Given the description of an element on the screen output the (x, y) to click on. 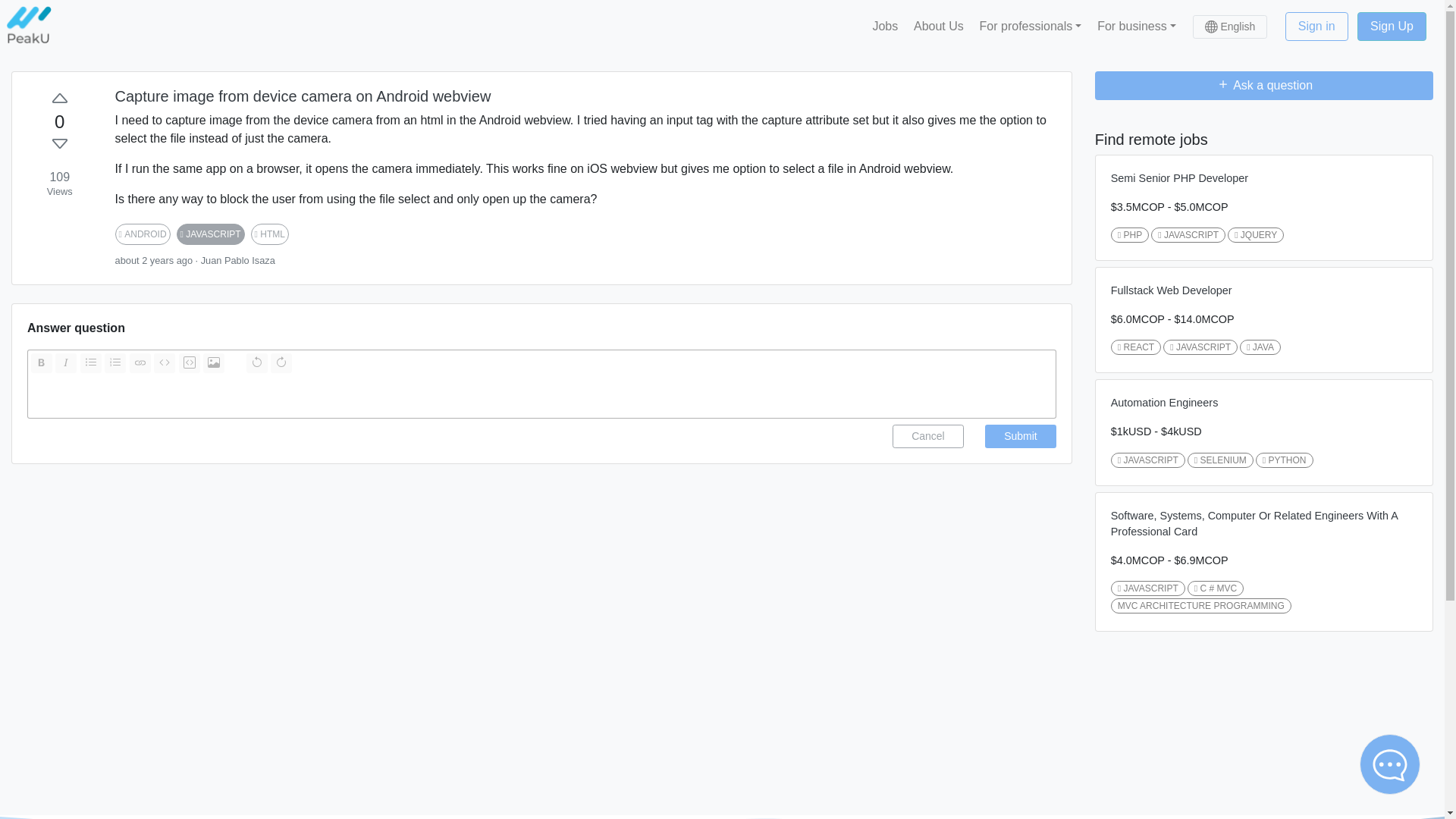
Jobs (884, 26)
Sign Up (1391, 26)
English (1229, 26)
For business (1136, 26)
About Us (938, 26)
Sign in (1316, 26)
For professionals (1030, 26)
